Given the description of an element on the screen output the (x, y) to click on. 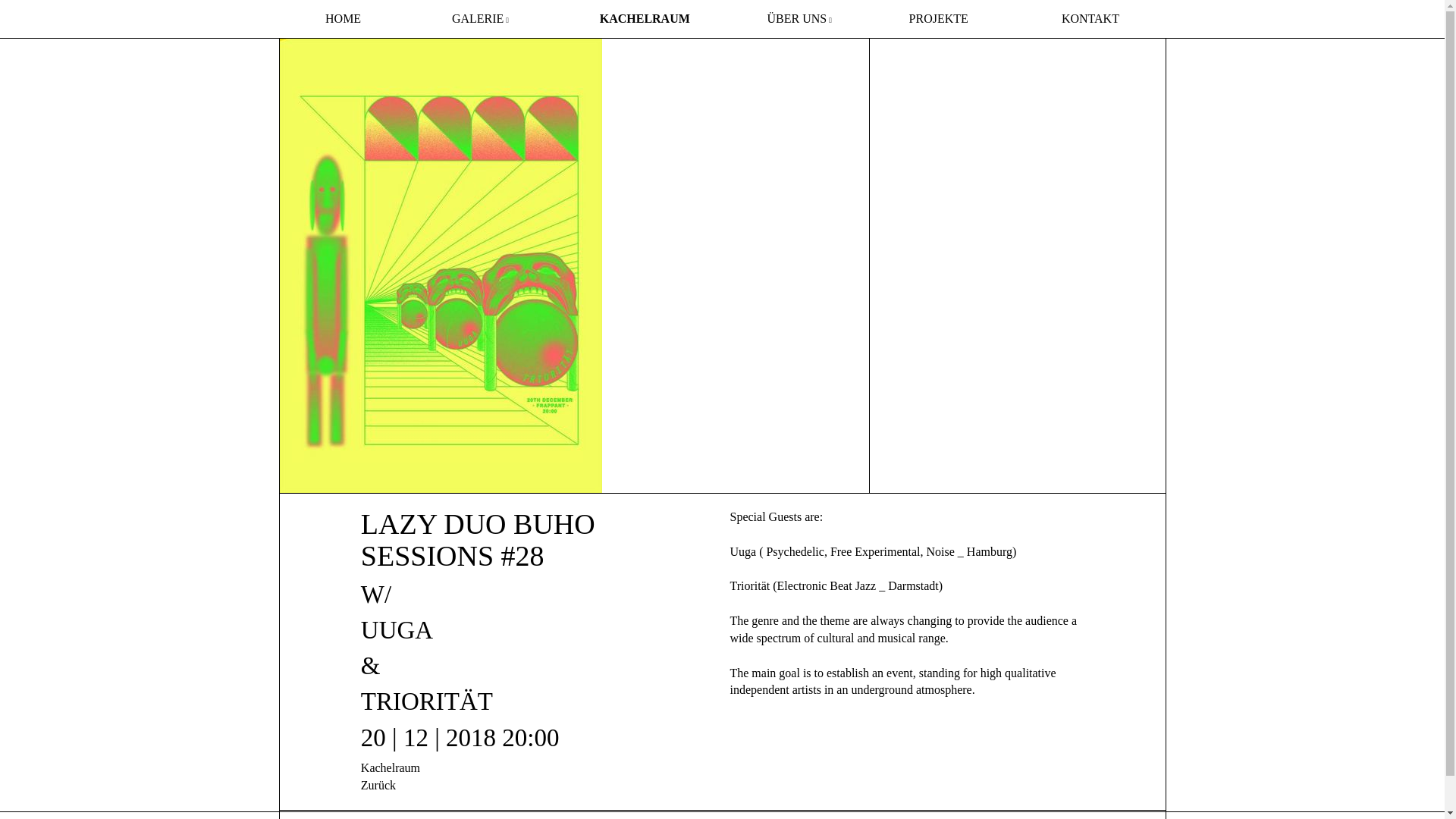
Uuga (742, 551)
HOME (343, 18)
GALERIE (480, 18)
KONTAKT (1090, 18)
KACHELRAUM (644, 18)
PROJEKTE (937, 18)
